Given the description of an element on the screen output the (x, y) to click on. 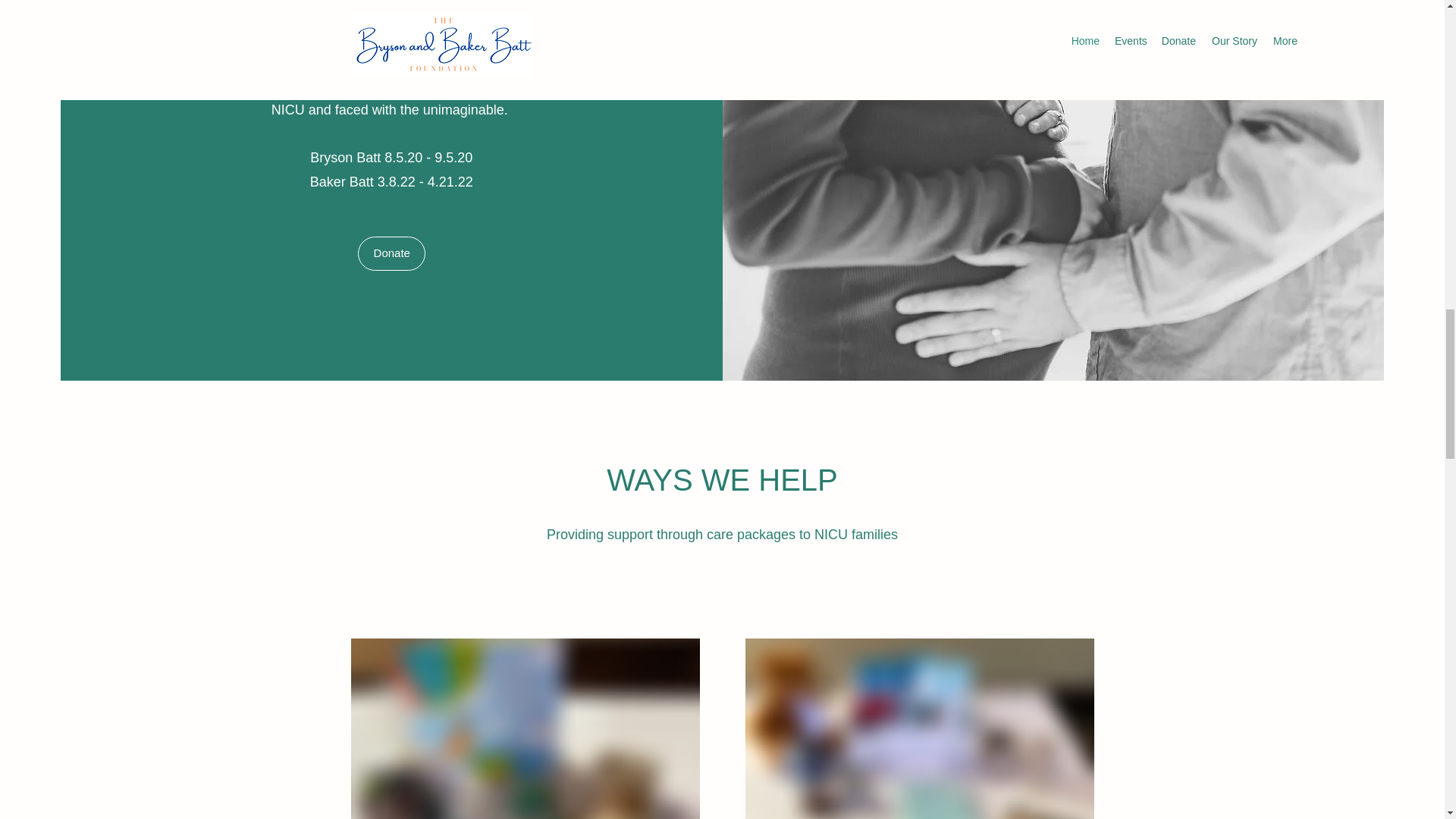
Donate (391, 253)
